Given the description of an element on the screen output the (x, y) to click on. 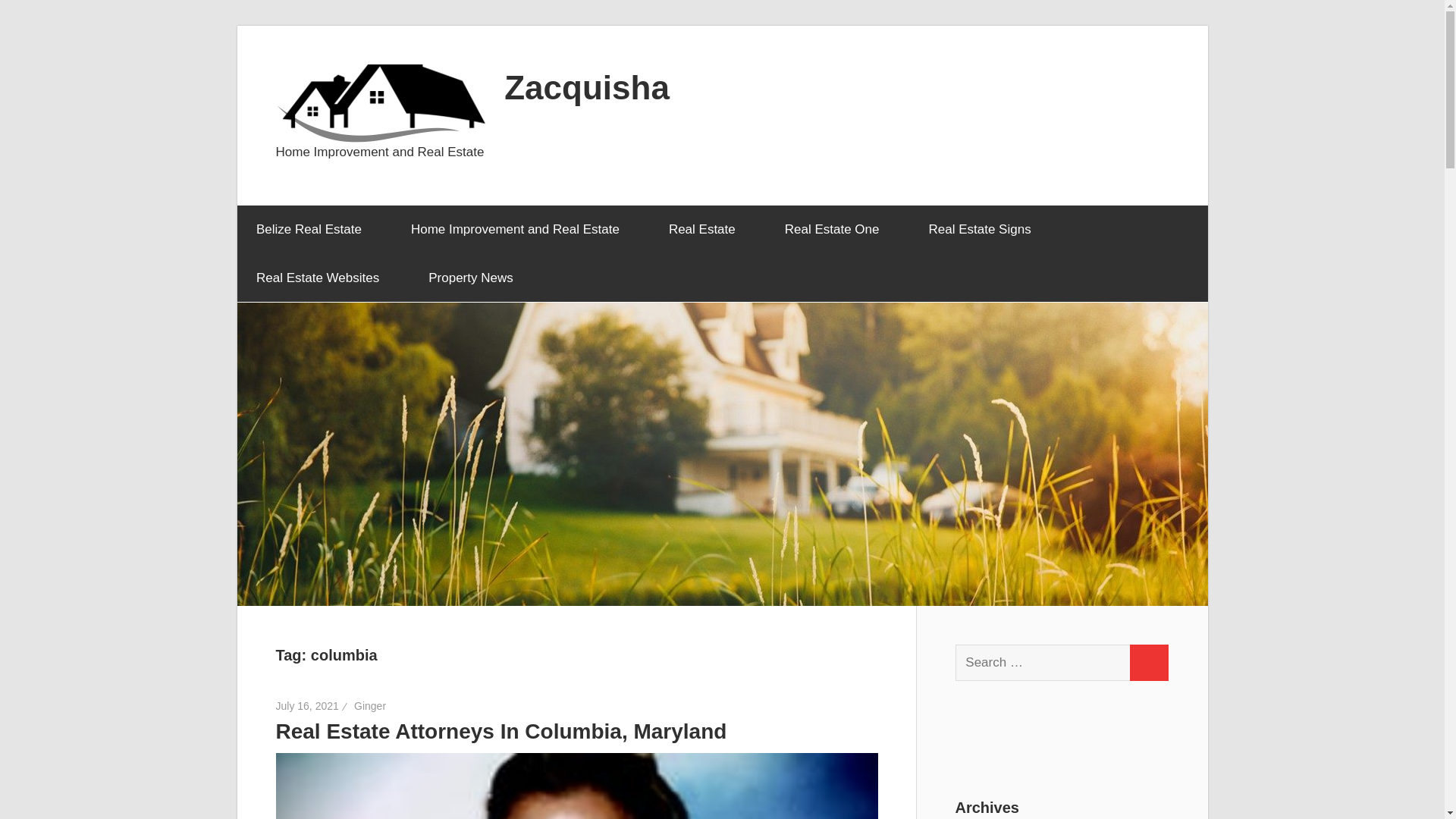
Real Estate Signs (984, 229)
Real Estate One (836, 229)
Zacquisha (586, 86)
Real Estate Websites (322, 277)
Home Improvement and Real Estate (520, 229)
Belize Real Estate (313, 229)
Search for: (1043, 662)
Real Estate (707, 229)
6:47 pm (307, 705)
View all posts by Ginger (369, 705)
